Given the description of an element on the screen output the (x, y) to click on. 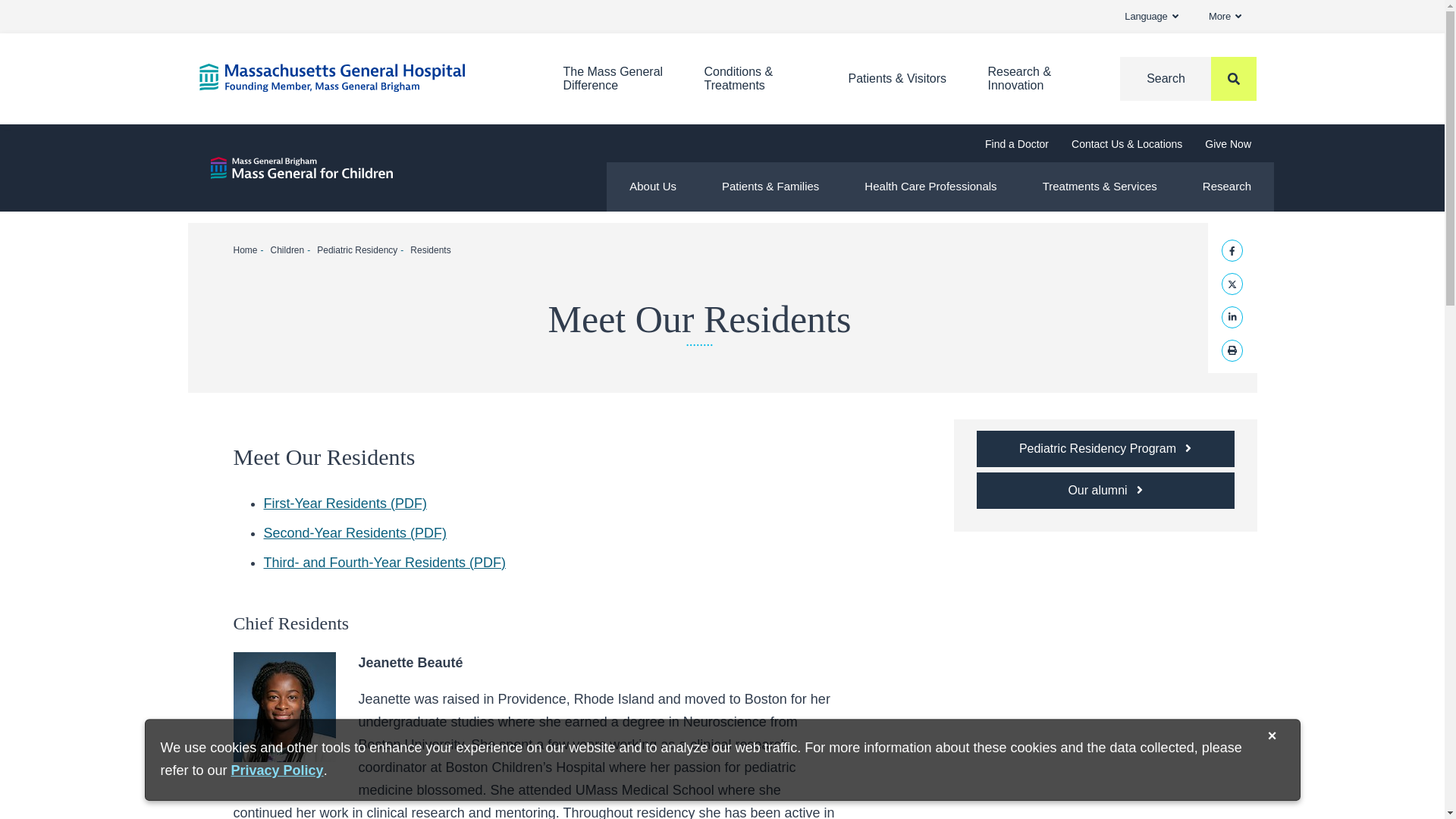
Mass General for Children (302, 168)
Language (1151, 16)
Home (357, 77)
More (612, 78)
